Given the description of an element on the screen output the (x, y) to click on. 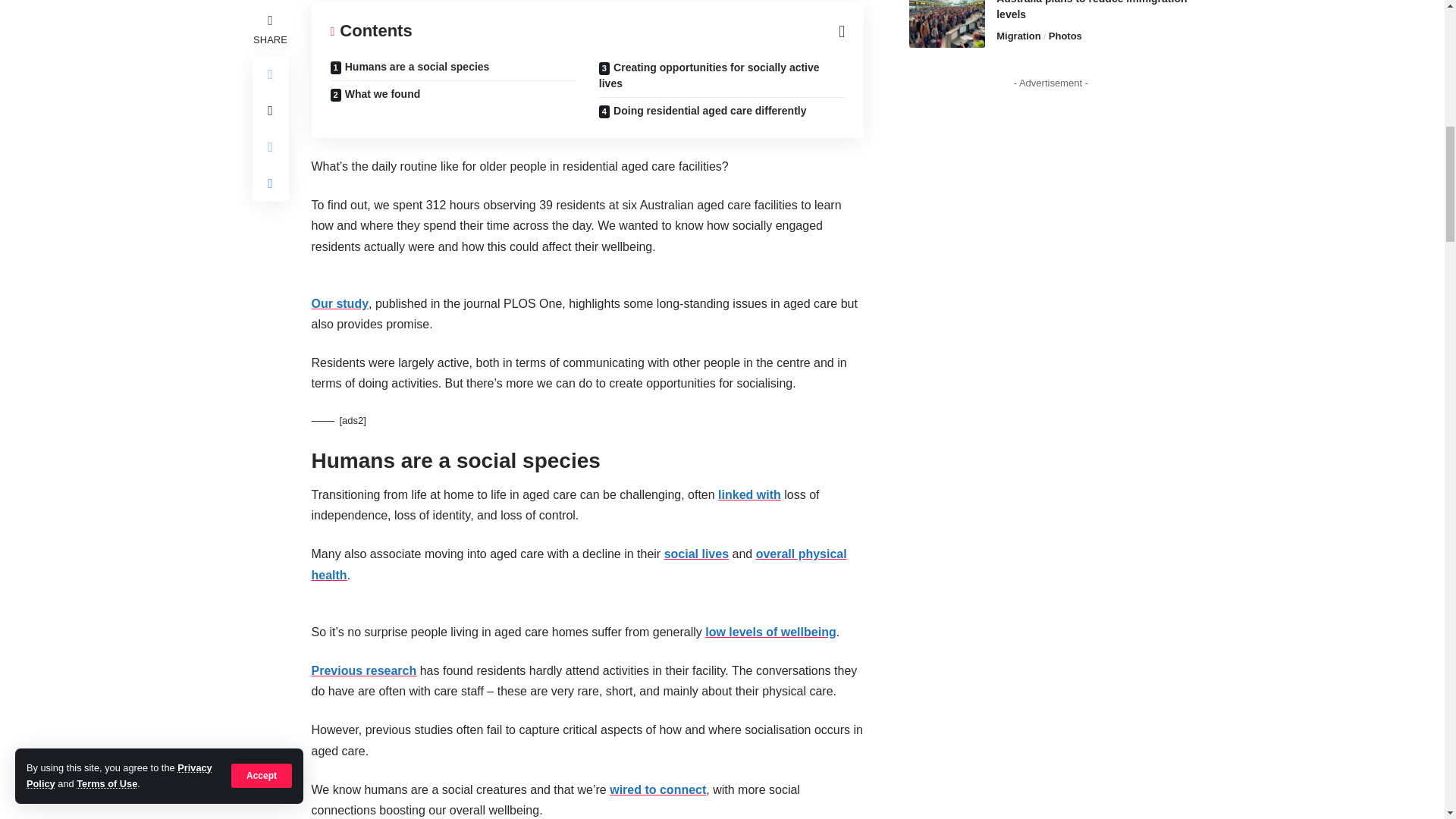
Australia plans to reduce immigration levels (946, 23)
